Given the description of an element on the screen output the (x, y) to click on. 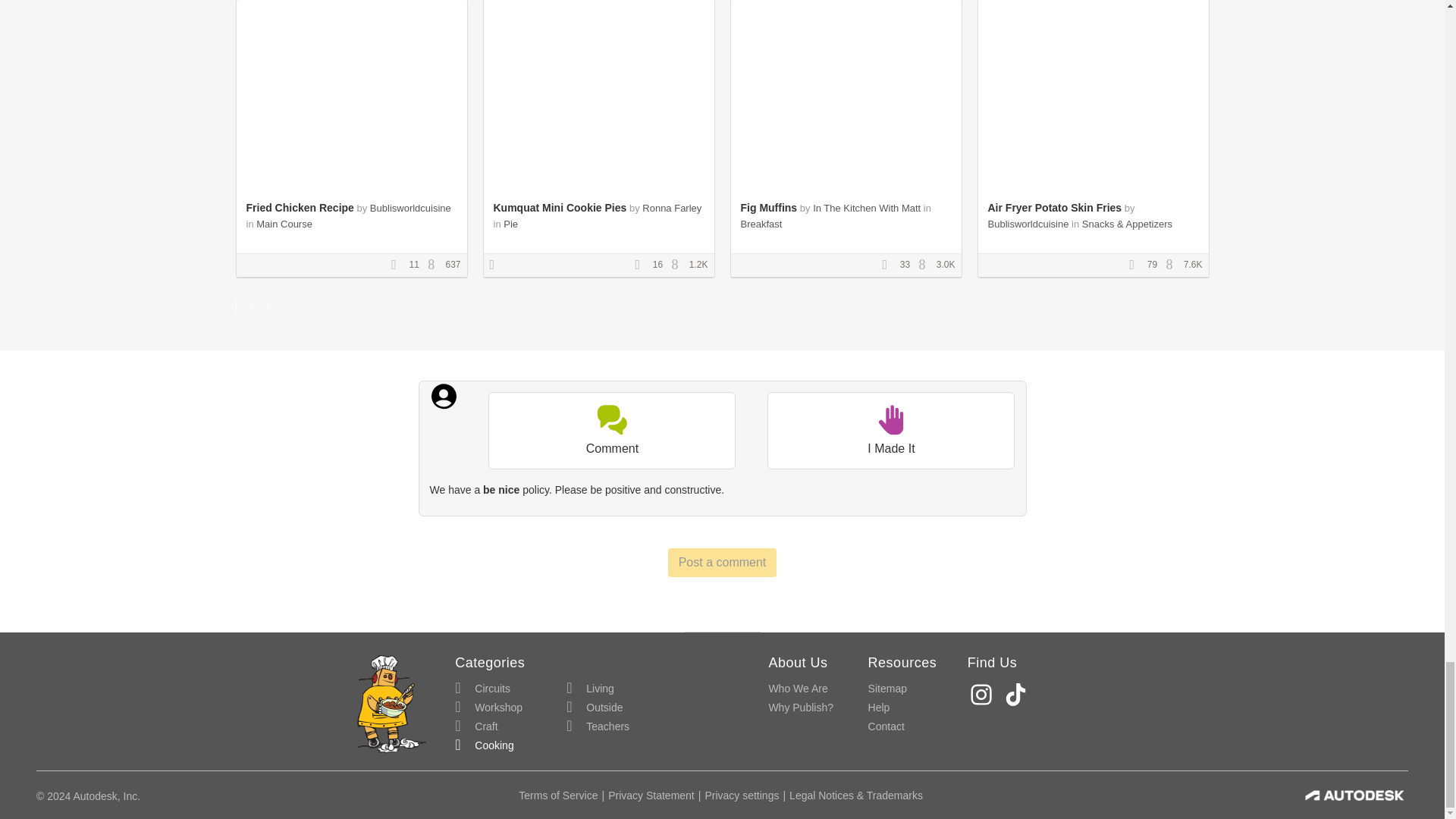
Favorites Count (641, 265)
Contest Winner (497, 265)
Main Course (284, 224)
Favorites Count (398, 265)
Air Fryer Potato Skin Fries (1054, 207)
Views Count (678, 265)
Views Count (435, 265)
Fried Chicken Recipe (299, 207)
Instagram (983, 694)
Fig Muffins (767, 207)
Pie (510, 224)
Ronna Farley (671, 207)
Kumquat Mini Cookie Pies (559, 207)
Bublisworldcuisine (410, 207)
Comment (611, 430)
